Given the description of an element on the screen output the (x, y) to click on. 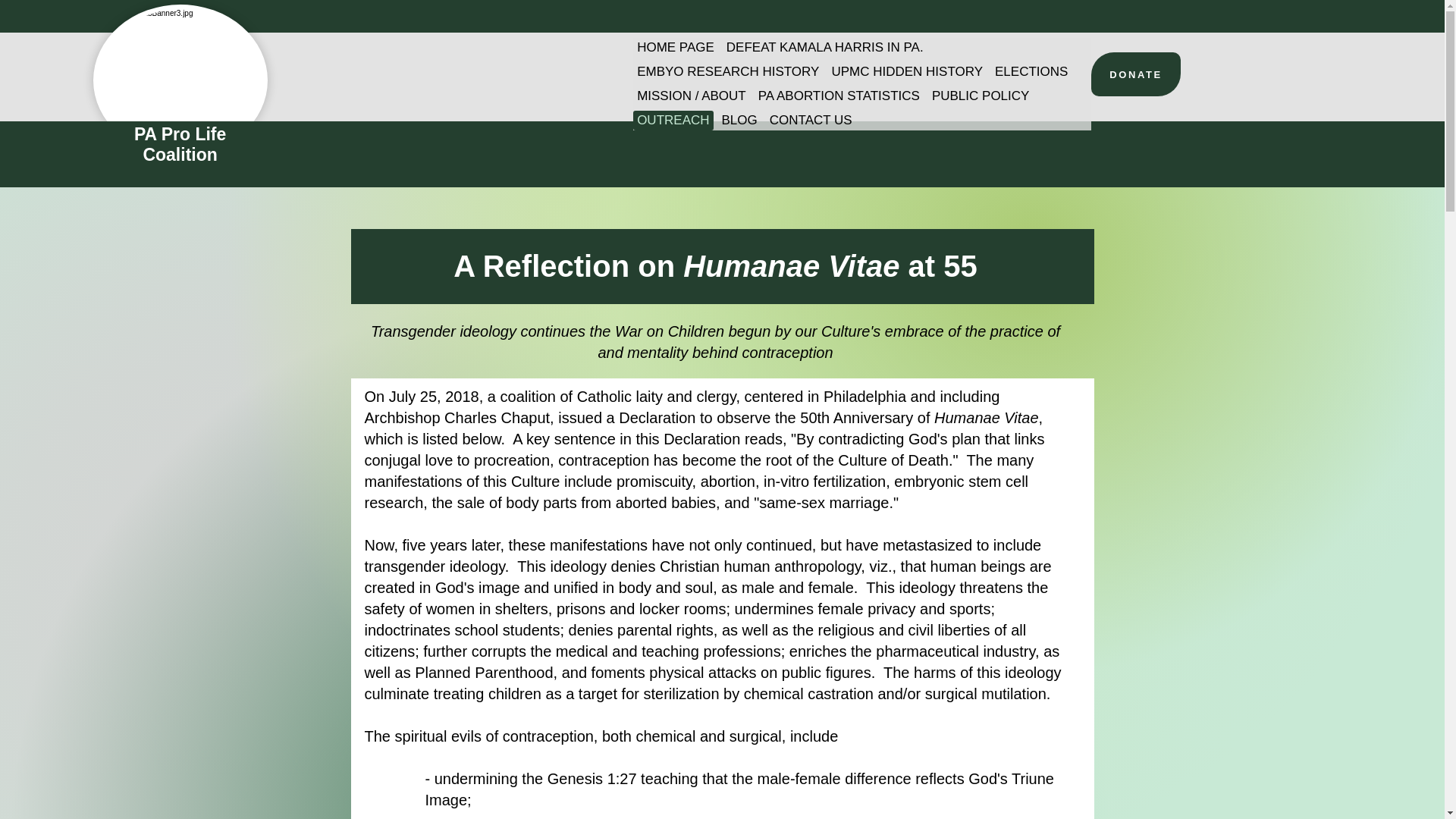
BLOG (739, 120)
UPMC HIDDEN HISTORY (907, 71)
PUBLIC POLICY (980, 96)
HOME PAGE (675, 47)
ELECTIONS (1031, 71)
CONTACT US (810, 120)
OUTREACH (673, 120)
DONATE (1135, 74)
DEFEAT KAMALA HARRIS IN PA. (824, 47)
EMBYO RESEARCH HISTORY (727, 71)
